Given the description of an element on the screen output the (x, y) to click on. 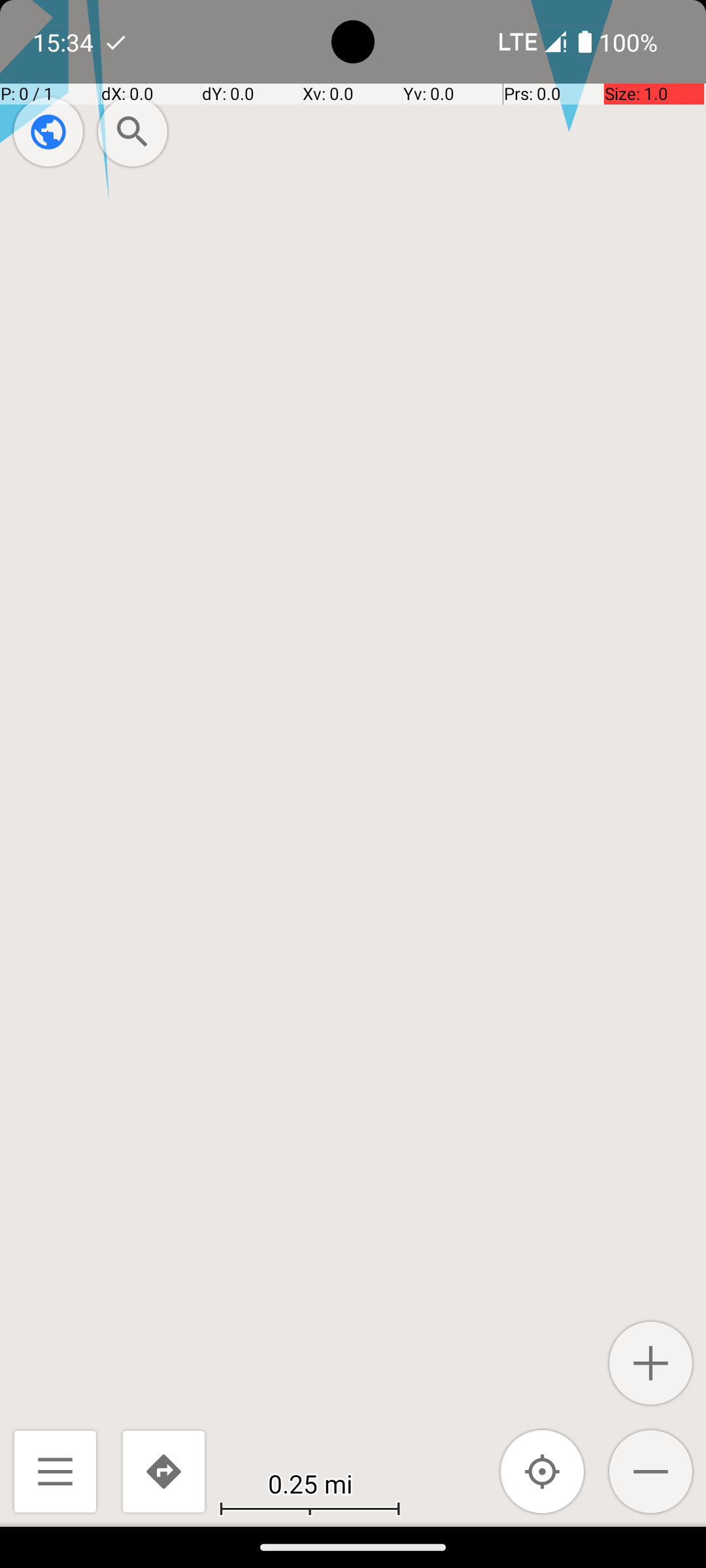
0.25 mi Element type: android.widget.TextView (309, 1483)
